Given the description of an element on the screen output the (x, y) to click on. 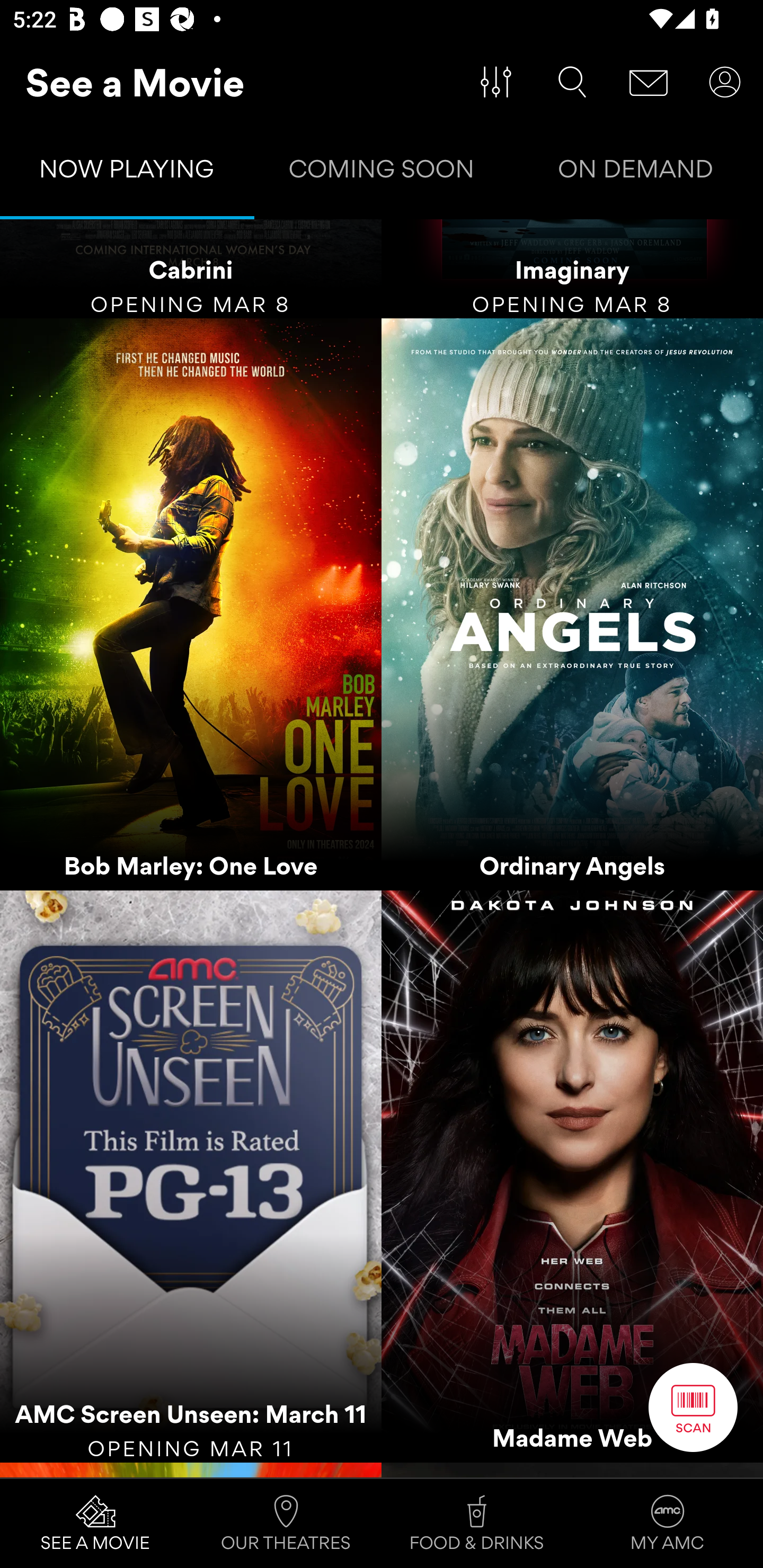
Filter Movies (495, 82)
Search (572, 82)
Message Center (648, 82)
User Account (724, 82)
NOW PLAYING
Tab 1 of 3 (127, 173)
COMING SOON
Tab 2 of 3 (381, 173)
ON DEMAND
Tab 3 of 3 (635, 173)
Cabrini
OPENING MAR 8 (190, 268)
Imaginary
OPENING MAR 8 (572, 268)
Bob Marley: One Love (190, 604)
Ordinary Angels (572, 604)
AMC Screen Unseen: March 11
OPENING MAR 11 (190, 1176)
Madame Web (572, 1176)
Scan Button (692, 1406)
SEE A MOVIE
Tab 1 of 4 (95, 1523)
OUR THEATRES
Tab 2 of 4 (285, 1523)
FOOD & DRINKS
Tab 3 of 4 (476, 1523)
MY AMC
Tab 4 of 4 (667, 1523)
